Given the description of an element on the screen output the (x, y) to click on. 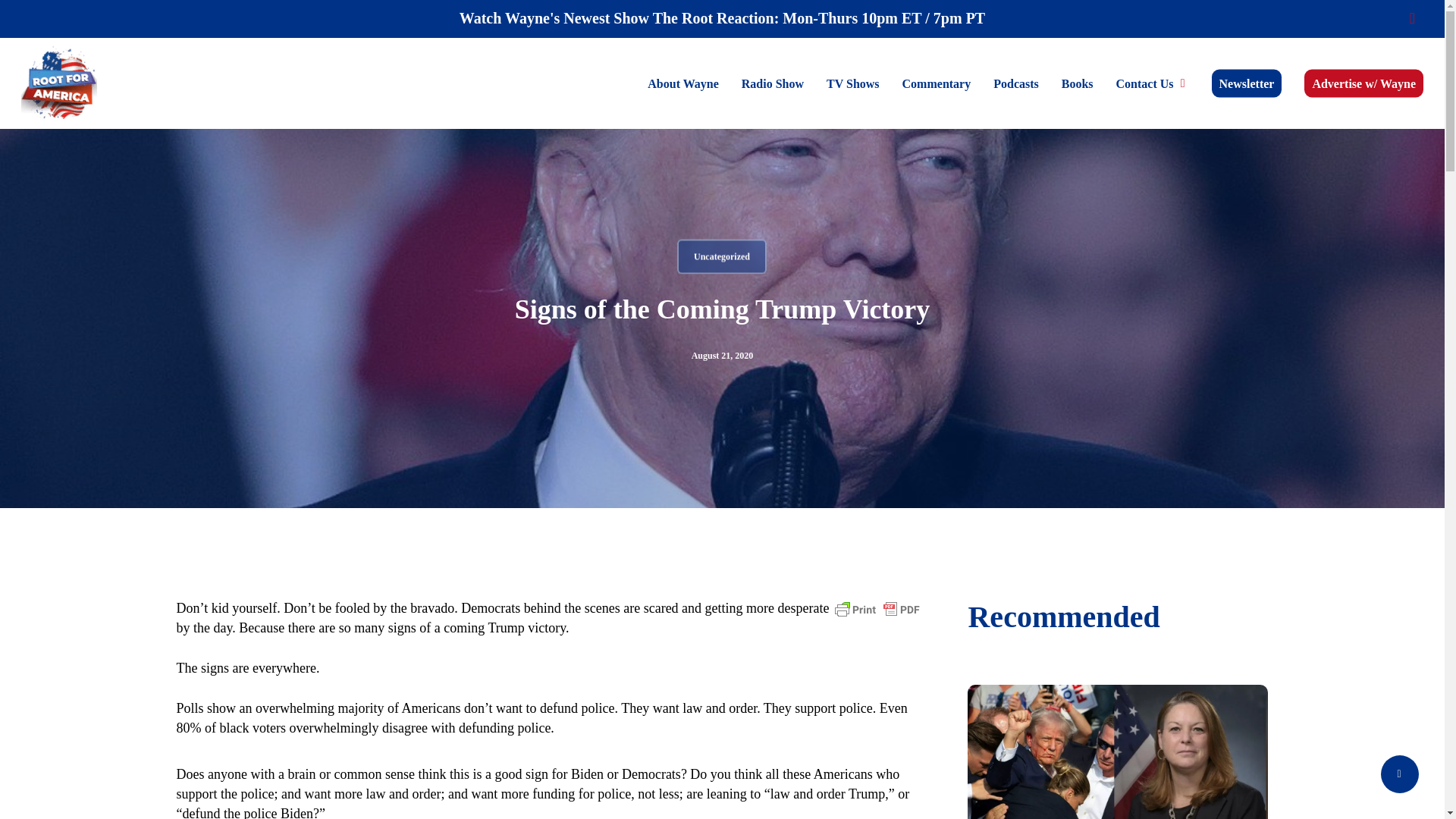
Radio Show (772, 82)
About Wayne (683, 82)
Commentary (936, 82)
Uncategorized (722, 256)
Contact Us (1152, 82)
Newsletter (1246, 82)
TV Shows (853, 82)
Books (1077, 82)
Podcasts (1015, 82)
